Given the description of an element on the screen output the (x, y) to click on. 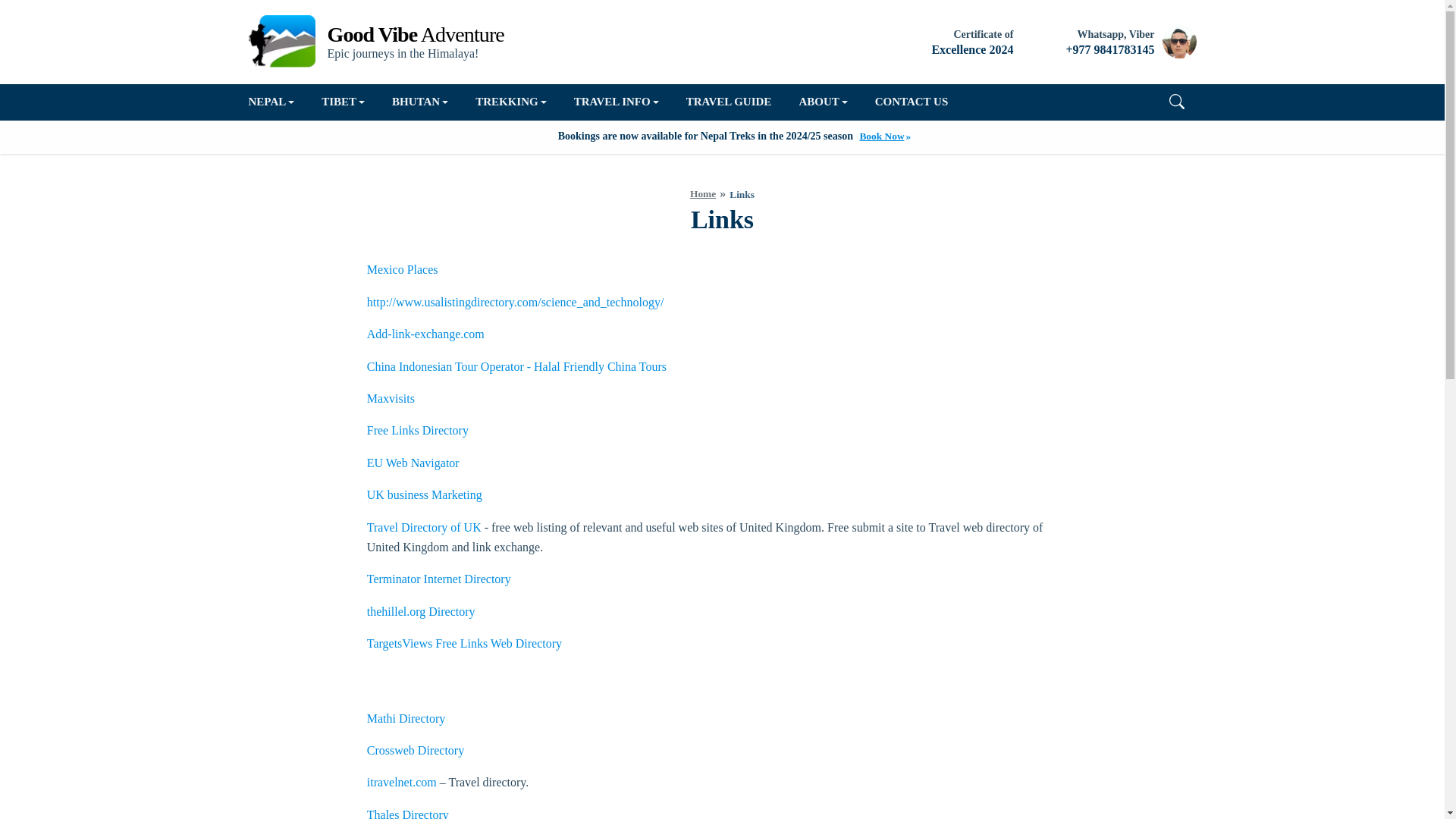
NEPAL (278, 102)
